Given the description of an element on the screen output the (x, y) to click on. 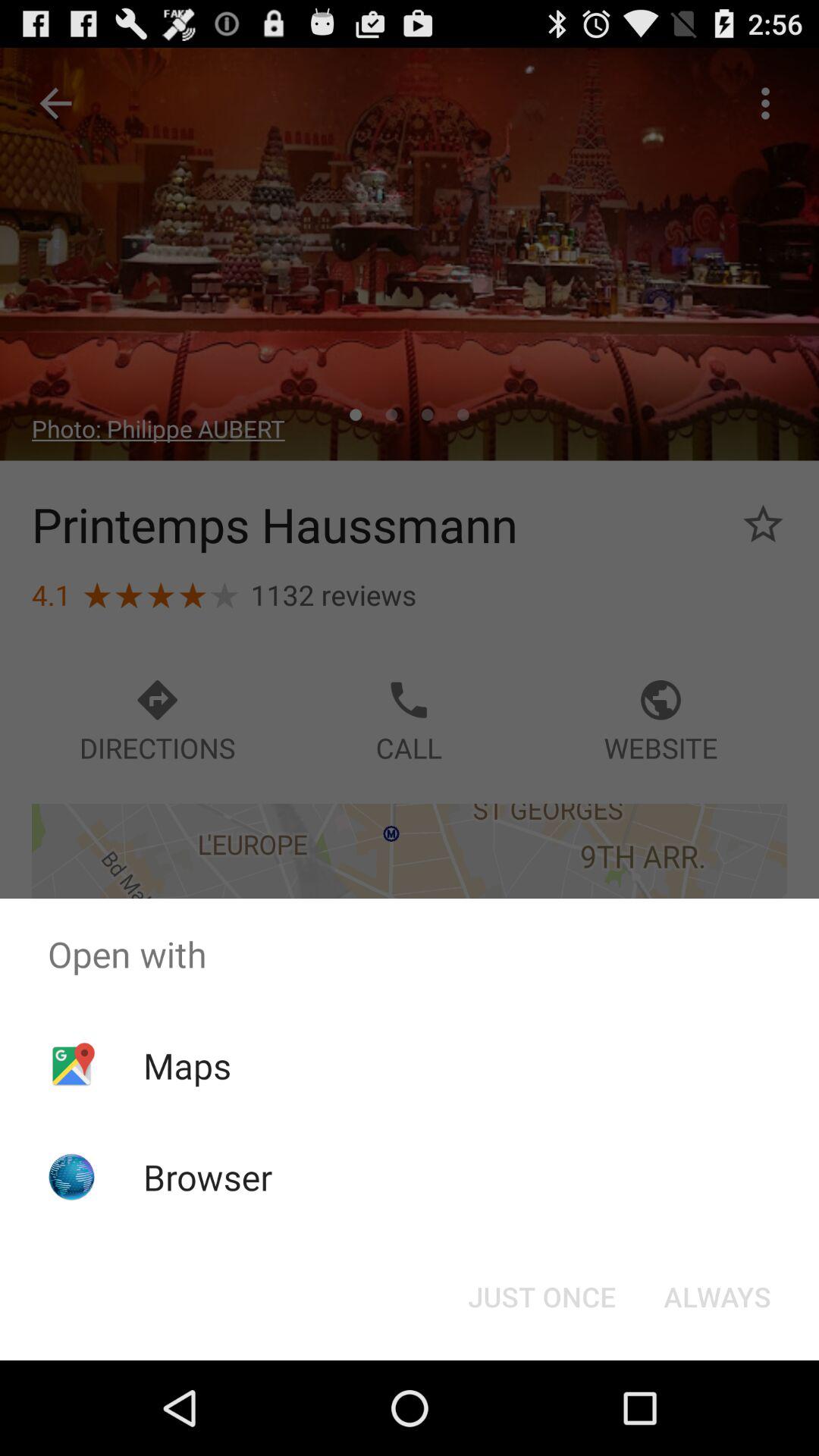
jump to the just once button (541, 1296)
